Given the description of an element on the screen output the (x, y) to click on. 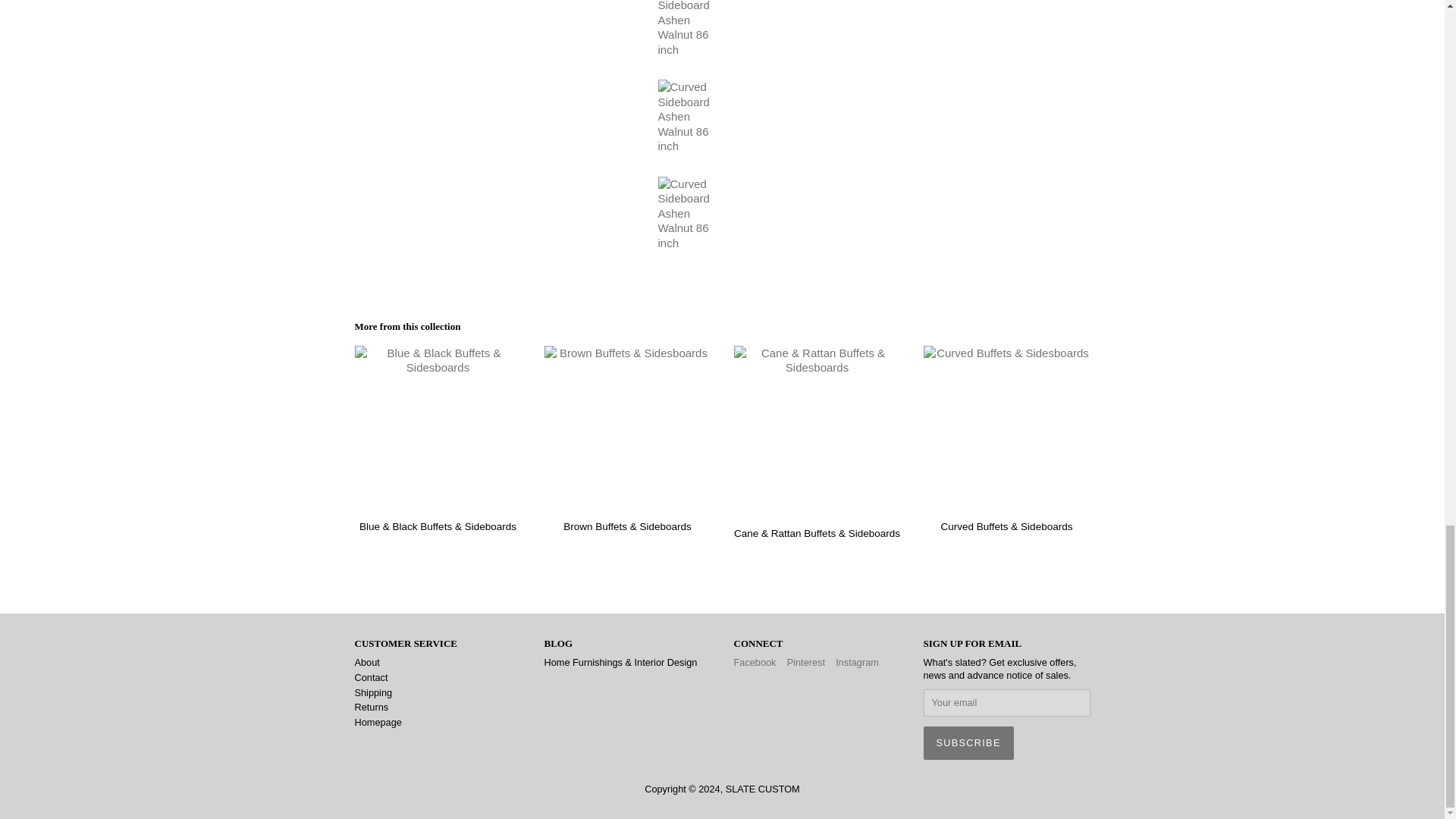
SLATE CUSTOM on Pinterest (806, 662)
SLATE CUSTOM on Instagram (857, 662)
SLATE CUSTOM on Facebook (754, 662)
Subscribe (968, 743)
